Given the description of an element on the screen output the (x, y) to click on. 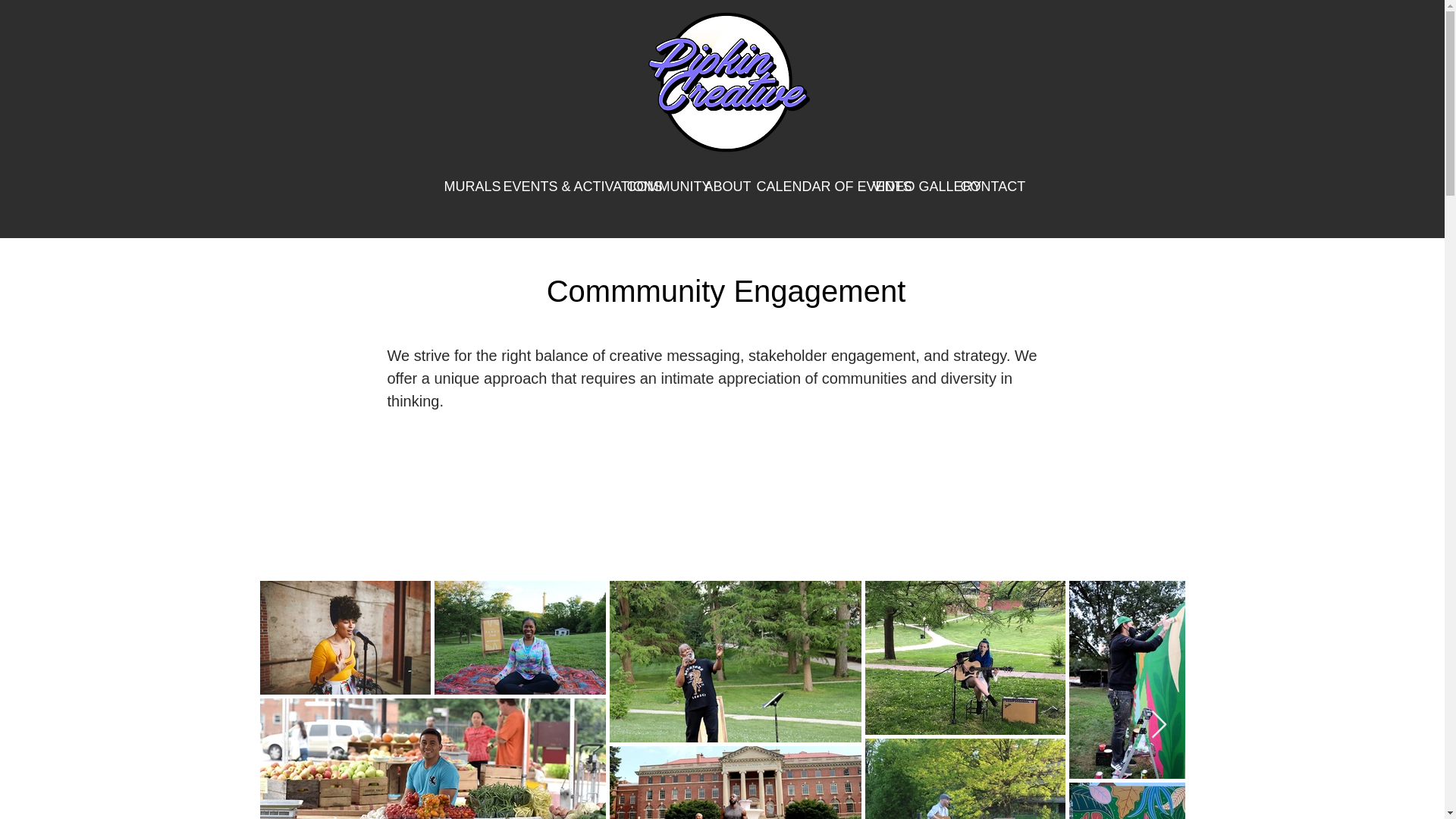
COMMUNITY (654, 186)
CALENDAR OF EVENTS (802, 186)
ABOUT (719, 186)
CONTACT (980, 186)
MURALS (462, 186)
VIDEO GALLERY (905, 186)
